Given the description of an element on the screen output the (x, y) to click on. 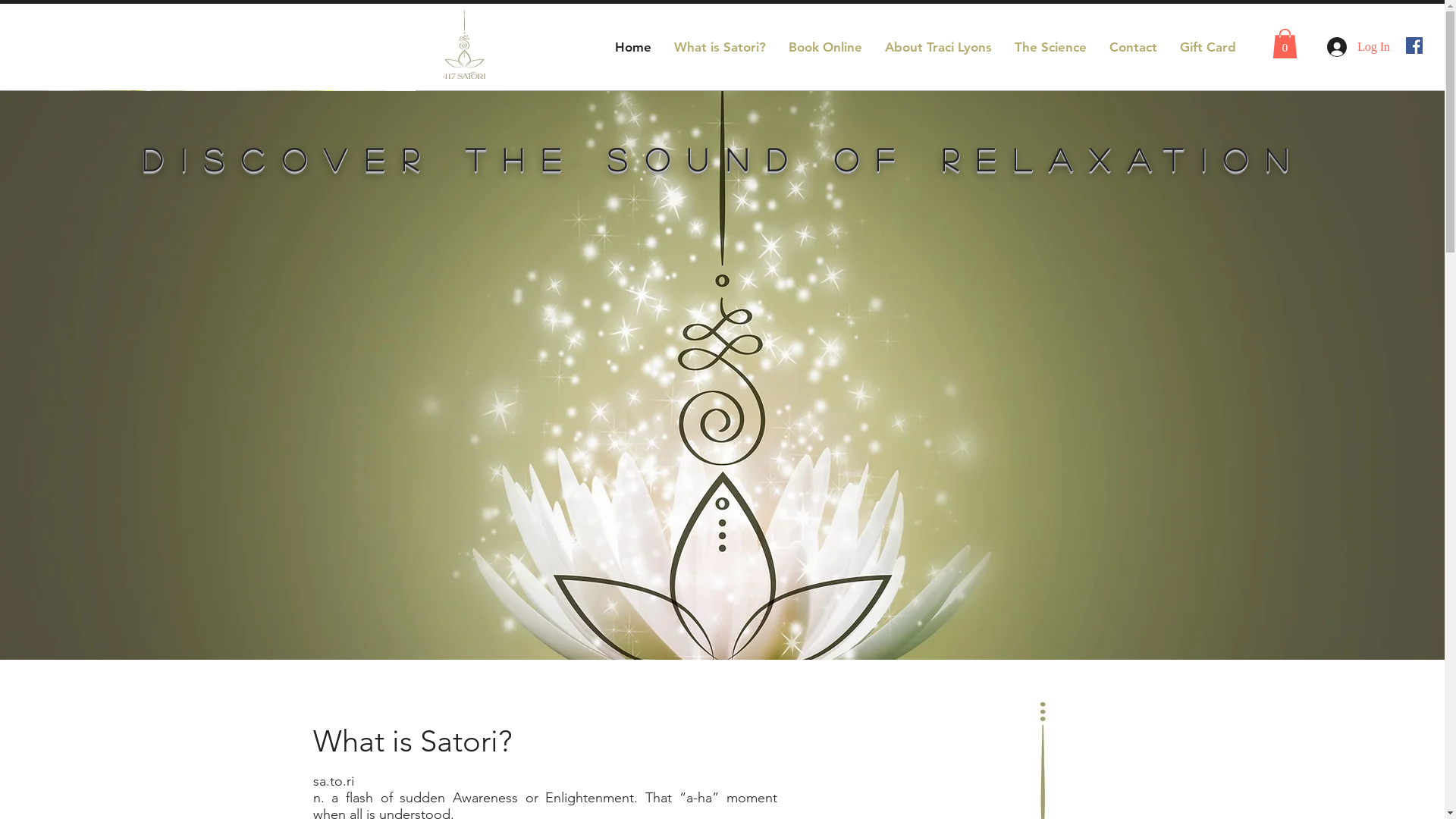
Log In Element type: text (1348, 46)
Home Element type: text (632, 47)
Gift Card Element type: text (1207, 47)
About Traci Lyons Element type: text (938, 47)
Book Online Element type: text (825, 47)
0 Element type: text (1284, 43)
The Science Element type: text (1050, 47)
Contact Element type: text (1133, 47)
What is Satori? Element type: text (719, 47)
